Given the description of an element on the screen output the (x, y) to click on. 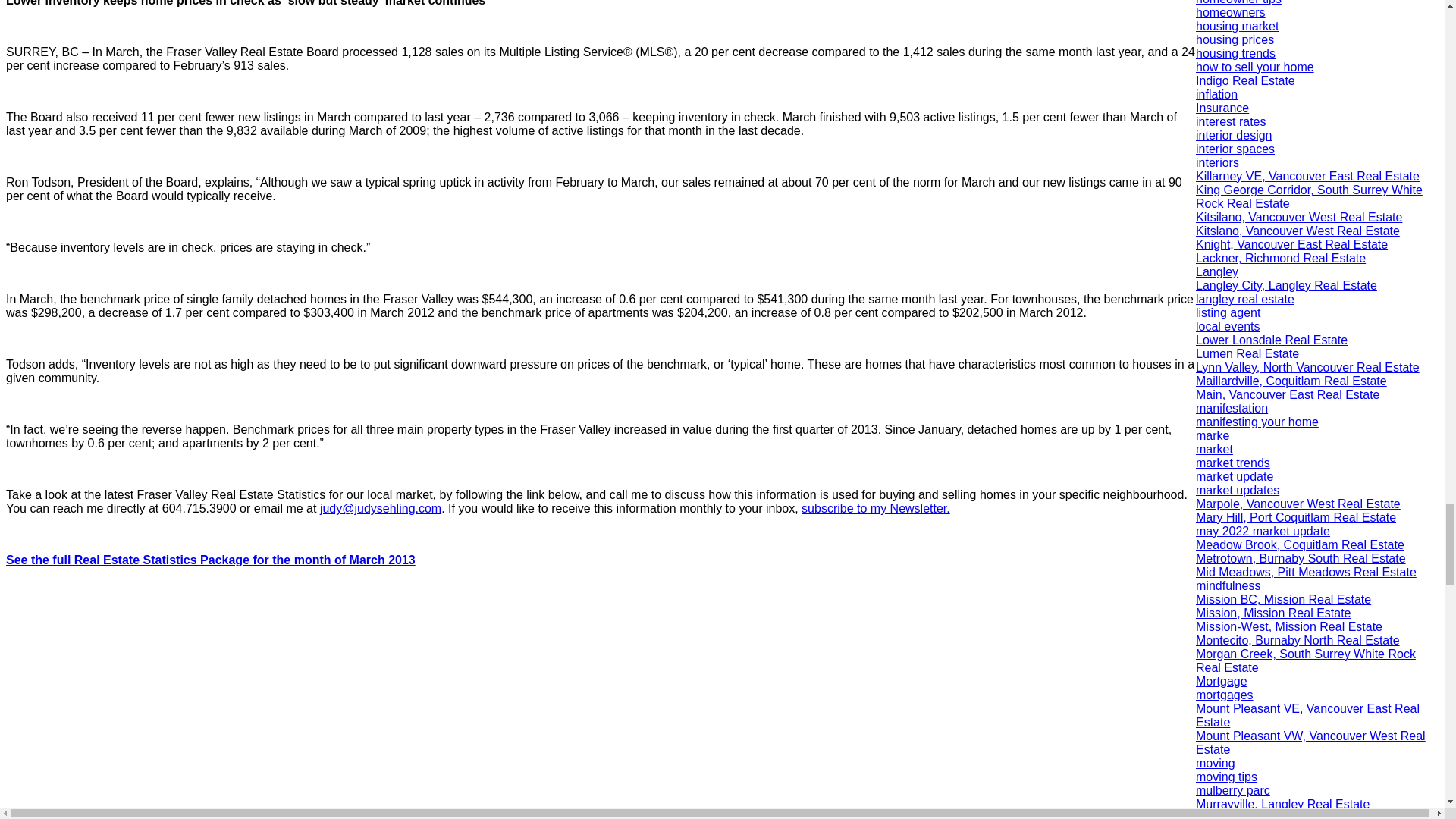
Fraser Valley Real Estate Statistics (209, 559)
Vancouver Real Estate Newsletter (876, 508)
